Given the description of an element on the screen output the (x, y) to click on. 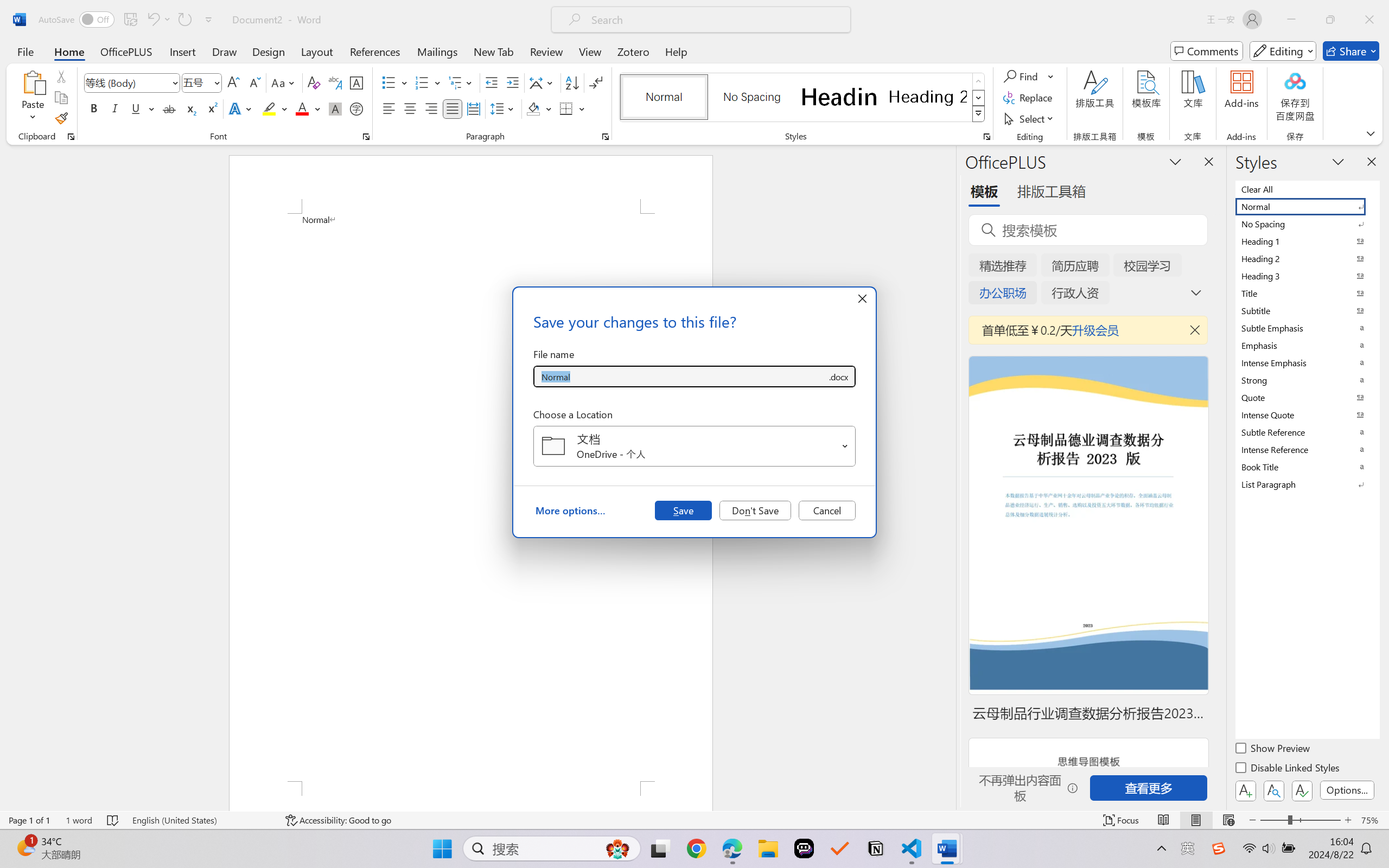
Text Highlight Color (274, 108)
Font Size (196, 82)
Text Highlight Color Yellow (269, 108)
Character Shading (334, 108)
Undo Apply Quick Style (158, 19)
Class: Image (1218, 847)
No Spacing (1306, 223)
Paste (33, 81)
Find (1022, 75)
Cut (60, 75)
AutomationID: QuickStylesGallery (802, 97)
Character Border (356, 82)
